Given the description of an element on the screen output the (x, y) to click on. 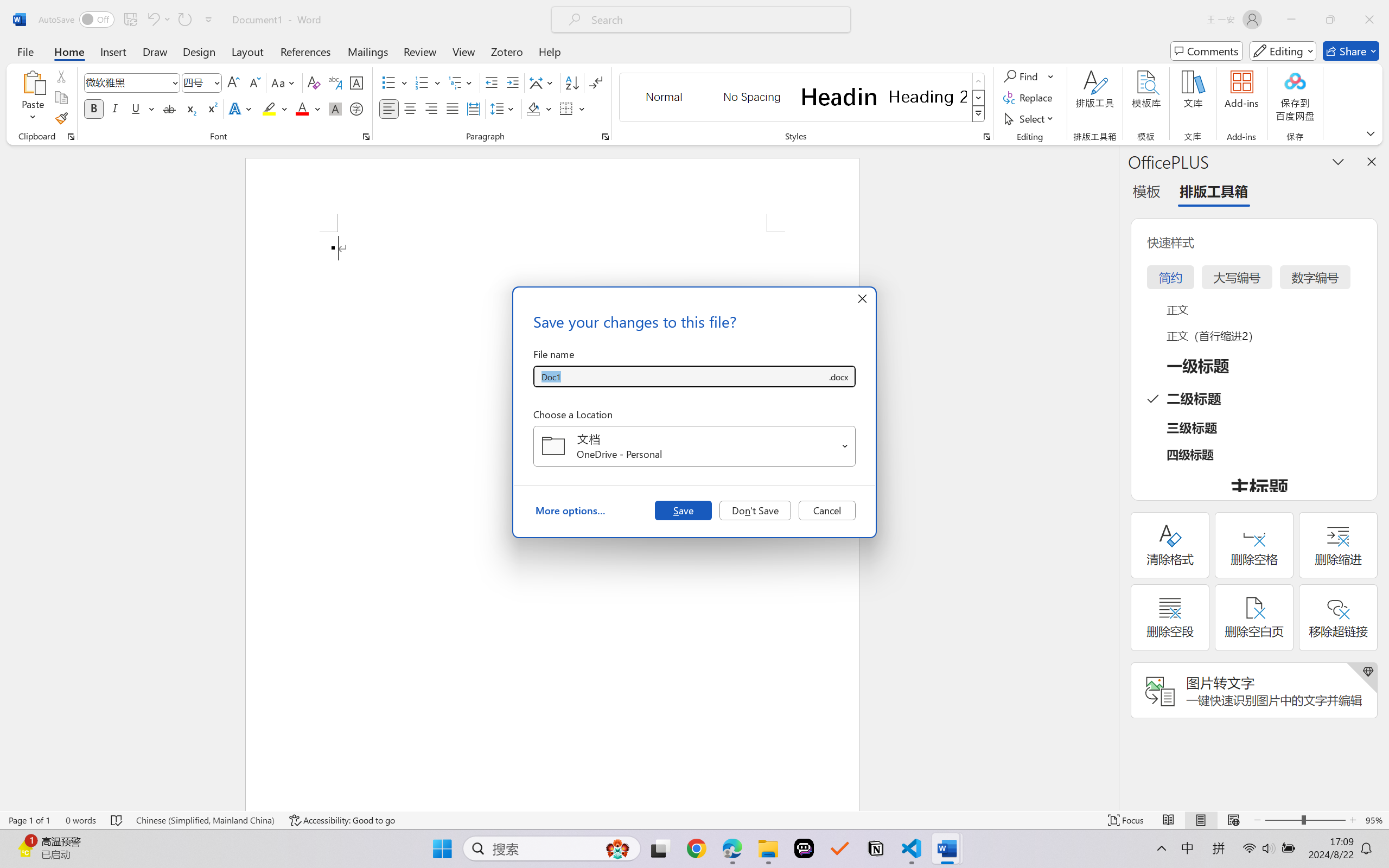
Don't Save (755, 509)
